Given the description of an element on the screen output the (x, y) to click on. 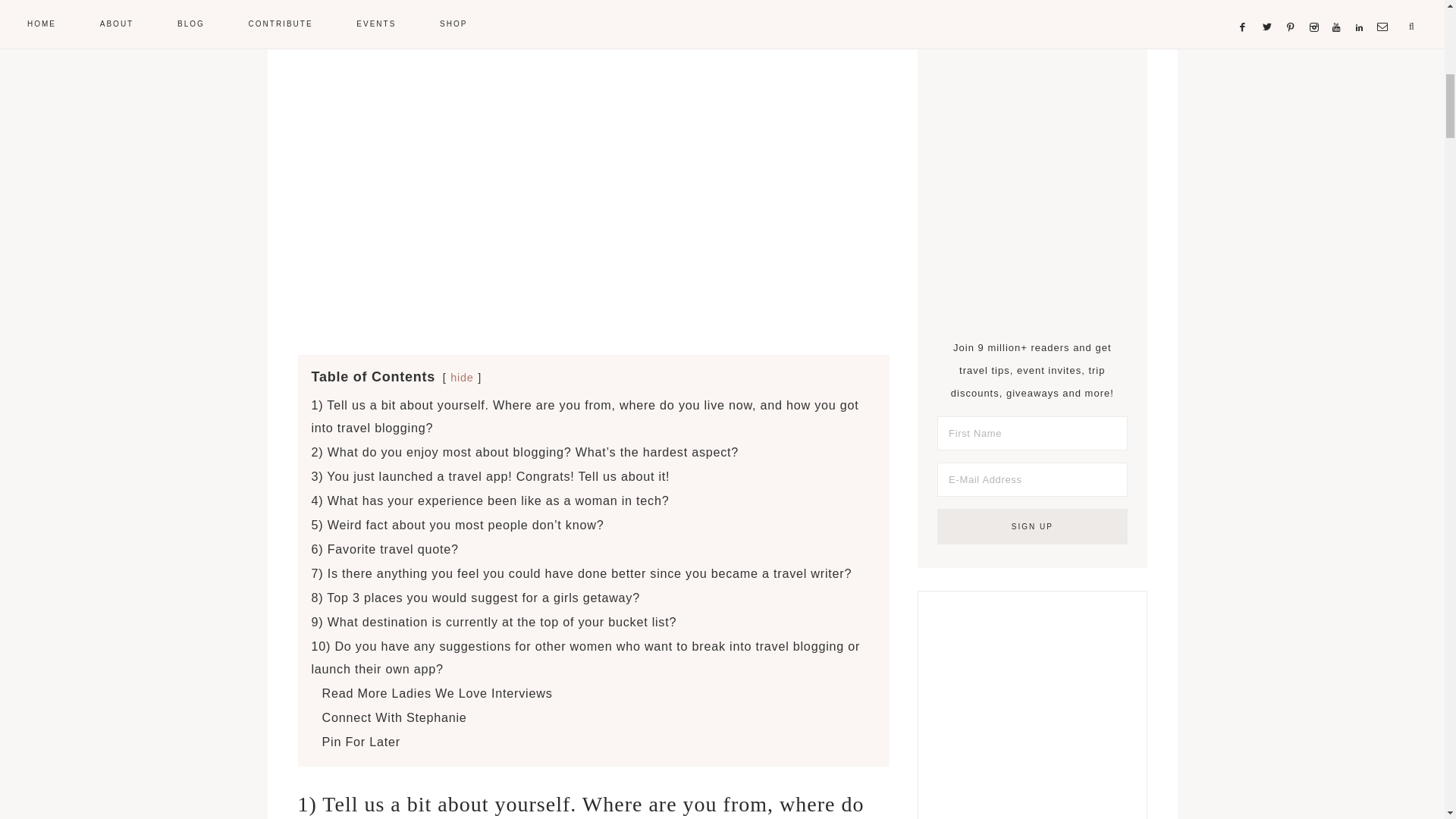
Sign Up (1031, 526)
